Given the description of an element on the screen output the (x, y) to click on. 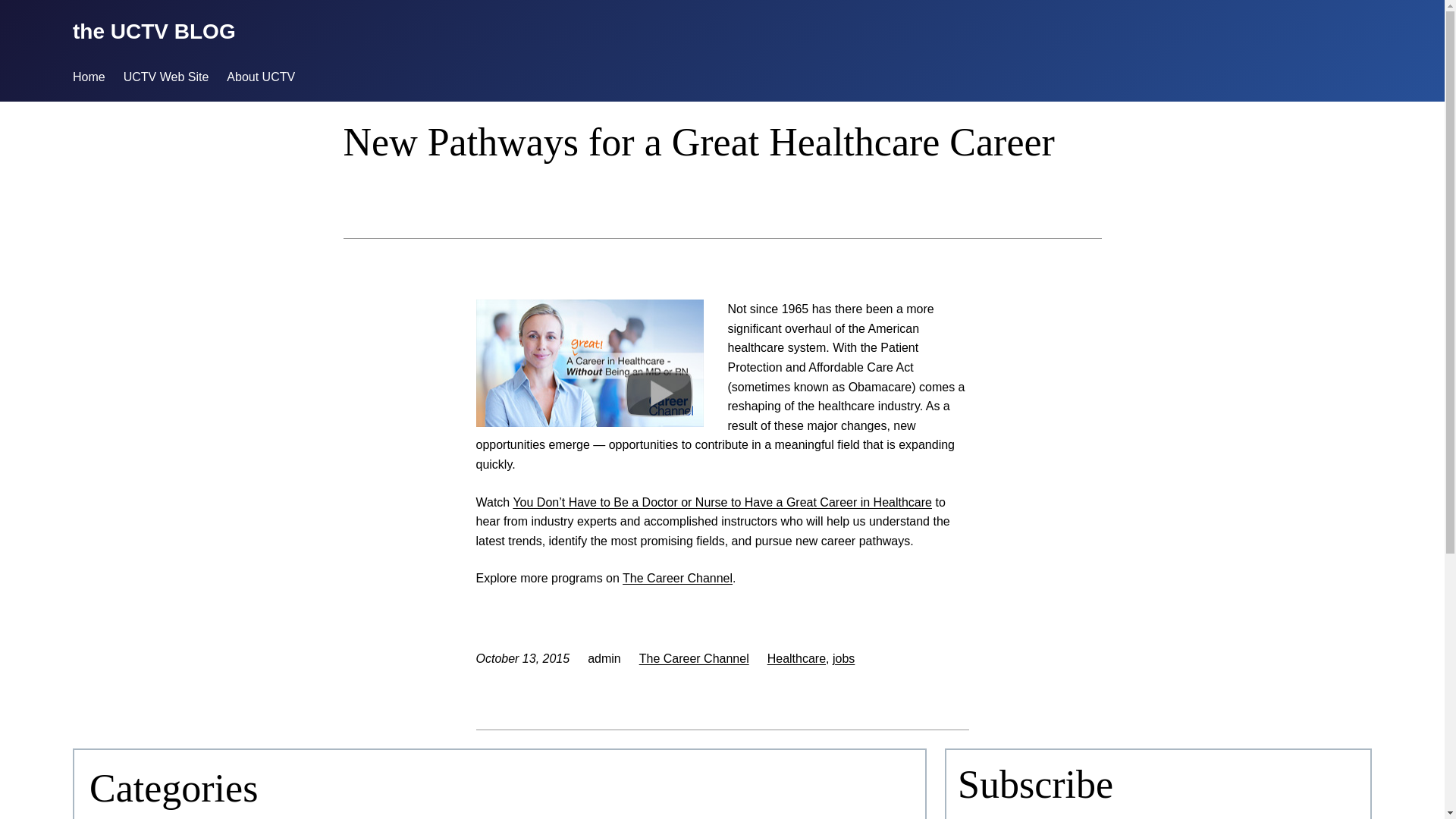
UCTV Web Site (166, 76)
About UCTV (261, 76)
Healthcare (796, 658)
The Career Channel (694, 658)
The Career Channel (677, 577)
Home (88, 76)
jobs (843, 658)
